Given the description of an element on the screen output the (x, y) to click on. 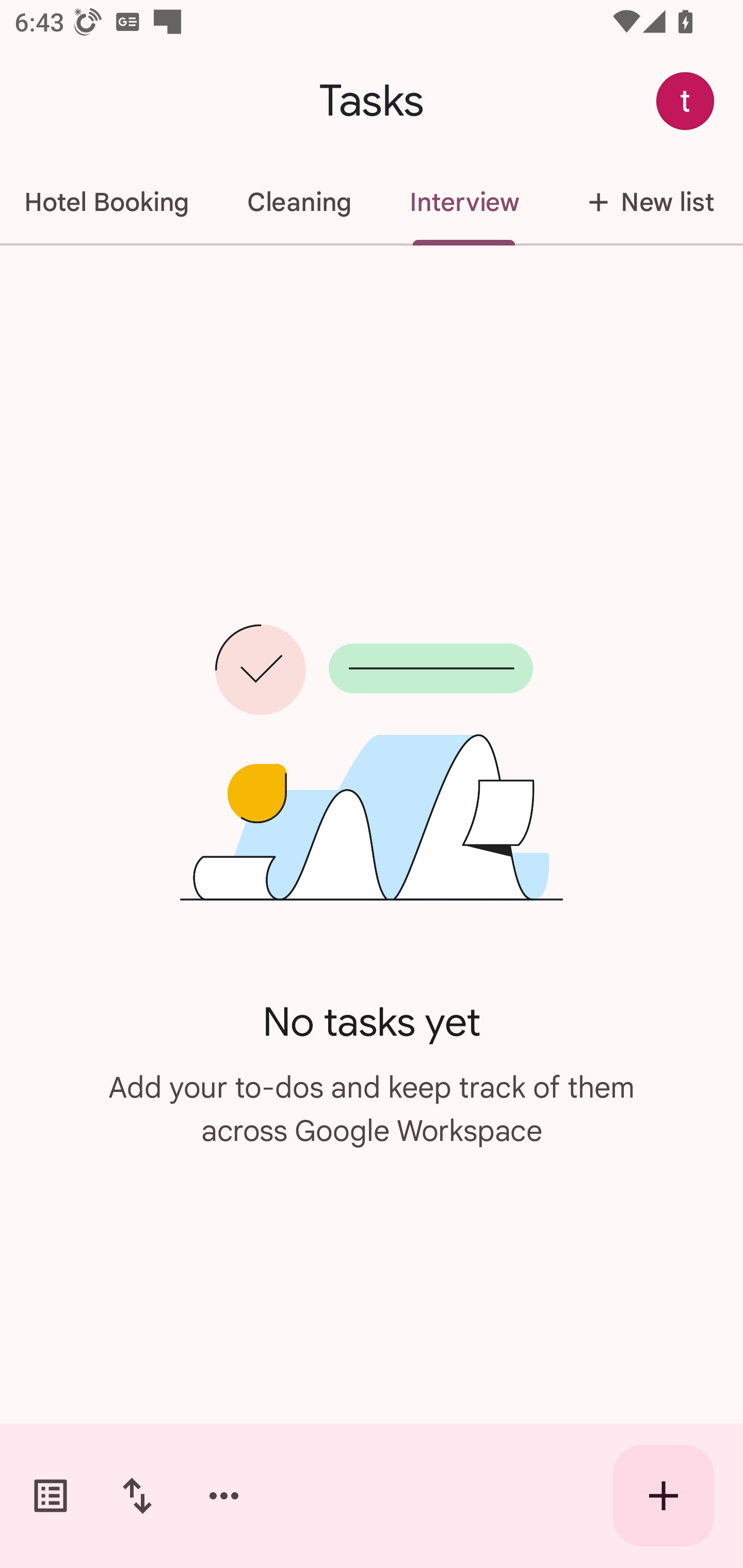
Hotel Booking (108, 202)
Cleaning (298, 202)
New list (645, 202)
Switch task lists (50, 1495)
Create new task (663, 1495)
Change sort order (136, 1495)
More options (223, 1495)
